Given the description of an element on the screen output the (x, y) to click on. 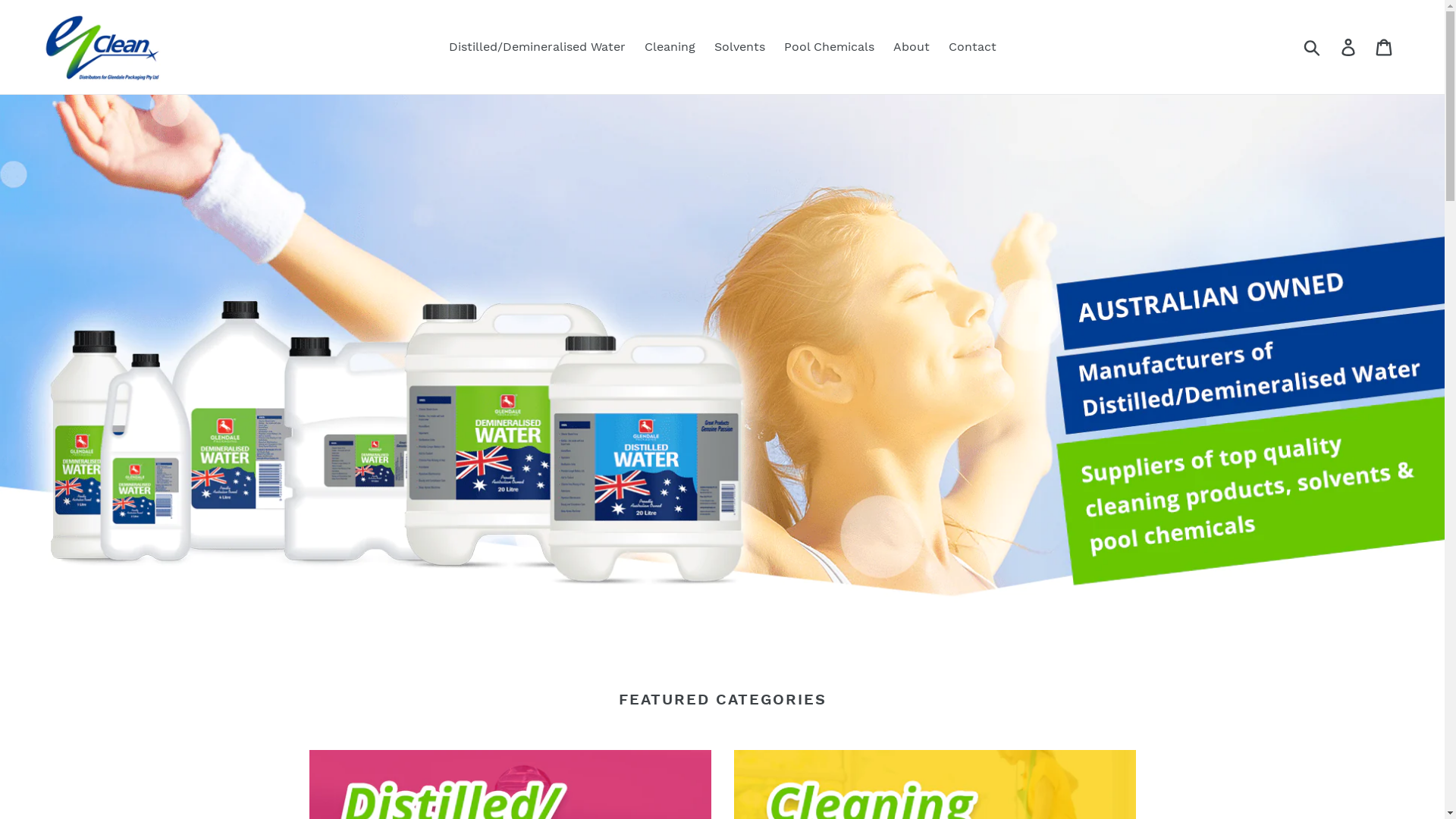
Distilled/Demineralised Water Element type: text (537, 46)
Pool Chemicals Element type: text (828, 46)
About Element type: text (911, 46)
Solvents Element type: text (739, 46)
Submit Element type: text (1312, 46)
Cleaning Element type: text (669, 46)
Contact Element type: text (971, 46)
Log in Element type: text (1349, 47)
Cart Element type: text (1384, 47)
